Given the description of an element on the screen output the (x, y) to click on. 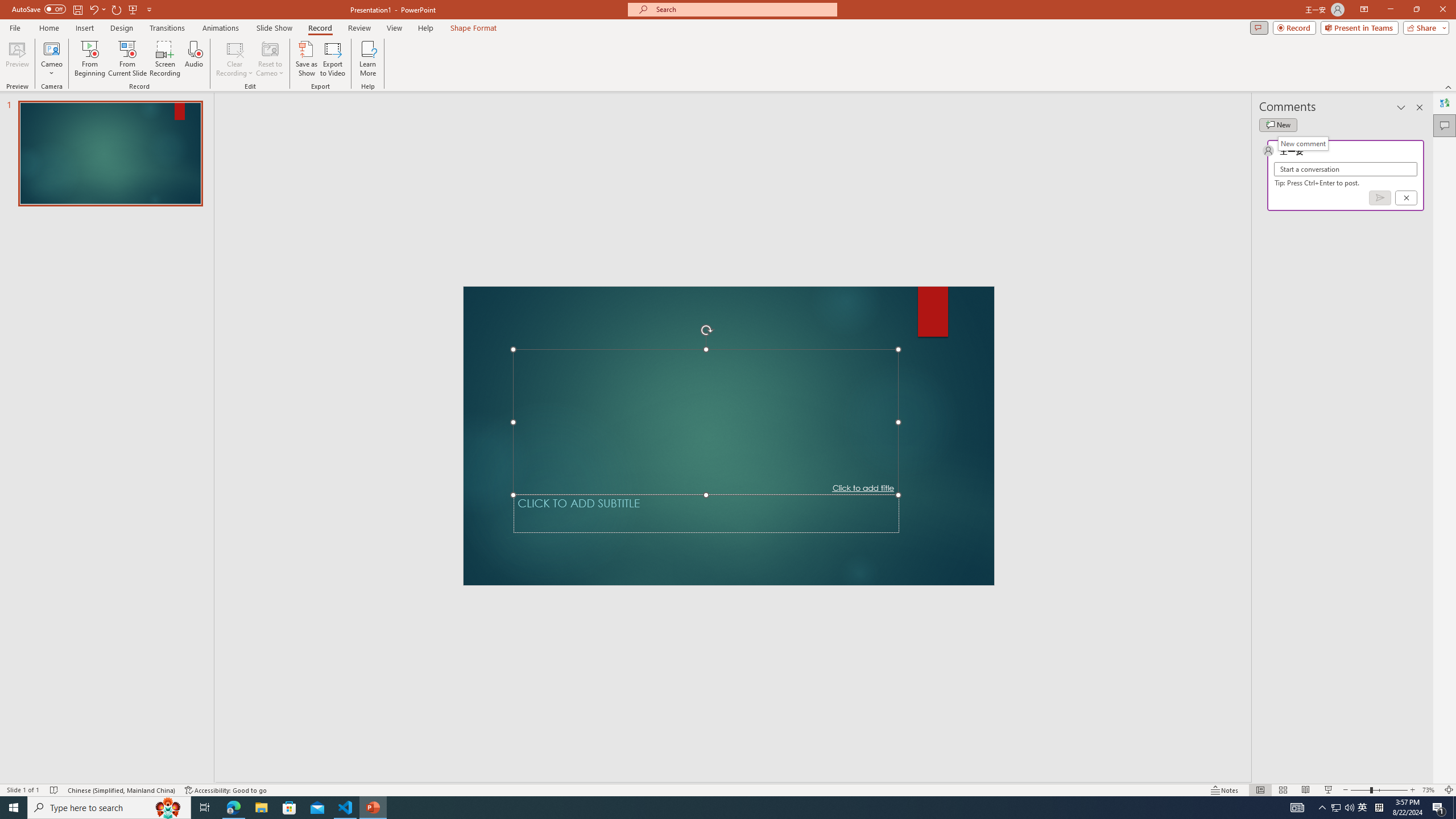
New comment (1278, 124)
